Given the description of an element on the screen output the (x, y) to click on. 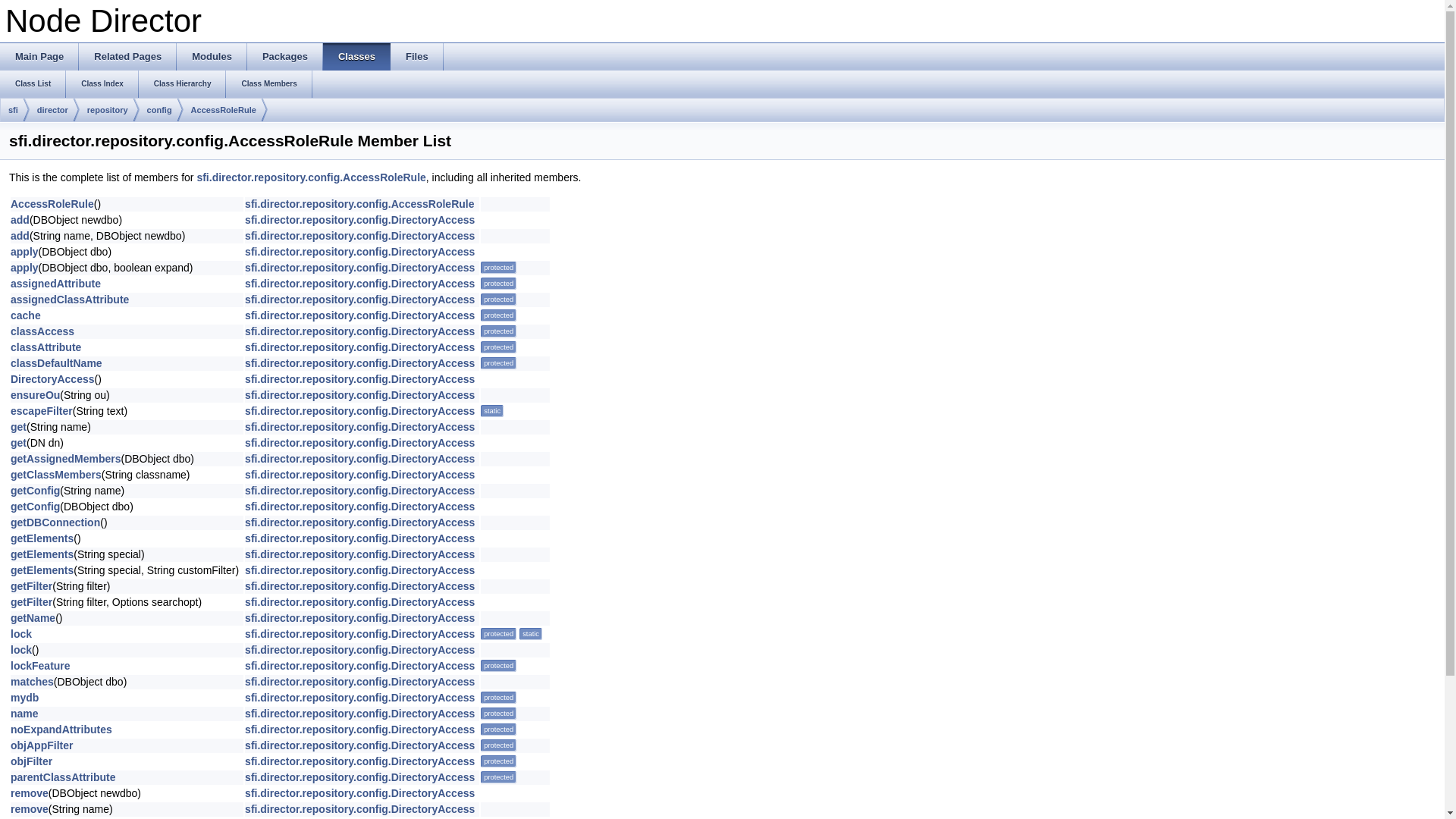
getFilter Element type: text (31, 602)
apply Element type: text (24, 267)
sfi.director.repository.config.DirectoryAccess Element type: text (359, 442)
sfi.director.repository.config.DirectoryAccess Element type: text (359, 331)
remove Element type: text (29, 793)
sfi.director.repository.config.DirectoryAccess Element type: text (359, 586)
get Element type: text (18, 442)
mydb Element type: text (24, 697)
name Element type: text (24, 713)
assignedClassAttribute Element type: text (69, 299)
director Element type: text (52, 110)
sfi.director.repository.config.DirectoryAccess Element type: text (359, 315)
sfi.director.repository.config.DirectoryAccess Element type: text (359, 681)
getElements Element type: text (41, 538)
cache Element type: text (25, 315)
AccessRoleRule Element type: text (52, 203)
remove Element type: text (29, 809)
sfi.director.repository.config.DirectoryAccess Element type: text (359, 474)
sfi.director.repository.config.DirectoryAccess Element type: text (359, 665)
getConfig Element type: text (34, 490)
sfi.director.repository.config.AccessRoleRule Element type: text (358, 203)
repository Element type: text (107, 110)
Classes Element type: text (356, 56)
sfi.director.repository.config.DirectoryAccess Element type: text (359, 363)
sfi.director.repository.config.DirectoryAccess Element type: text (359, 554)
sfi.director.repository.config.DirectoryAccess Element type: text (359, 777)
sfi.director.repository.config.DirectoryAccess Element type: text (359, 729)
sfi.director.repository.config.DirectoryAccess Element type: text (359, 649)
lock Element type: text (20, 649)
DirectoryAccess Element type: text (52, 379)
Class Members Element type: text (268, 83)
lockFeature Element type: text (40, 665)
ensureOu Element type: text (34, 395)
Files Element type: text (416, 56)
Class Hierarchy Element type: text (182, 83)
escapeFilter Element type: text (41, 410)
classAccess Element type: text (42, 331)
getDBConnection Element type: text (55, 522)
sfi.director.repository.config.DirectoryAccess Element type: text (359, 602)
classAttribute Element type: text (45, 347)
Class List Element type: text (32, 83)
apply Element type: text (24, 251)
sfi.director.repository.config.DirectoryAccess Element type: text (359, 522)
getElements Element type: text (41, 554)
add Element type: text (19, 235)
sfi.director.repository.config.DirectoryAccess Element type: text (359, 283)
sfi.director.repository.config.DirectoryAccess Element type: text (359, 745)
lock Element type: text (20, 633)
sfi.director.repository.config.DirectoryAccess Element type: text (359, 633)
sfi.director.repository.config.DirectoryAccess Element type: text (359, 347)
sfi Element type: text (13, 110)
sfi.director.repository.config.DirectoryAccess Element type: text (359, 506)
assignedAttribute Element type: text (55, 283)
sfi.director.repository.config.DirectoryAccess Element type: text (359, 490)
sfi.director.repository.config.DirectoryAccess Element type: text (359, 395)
Modules Element type: text (211, 56)
matches Element type: text (31, 681)
sfi.director.repository.config.DirectoryAccess Element type: text (359, 458)
sfi.director.repository.config.DirectoryAccess Element type: text (359, 267)
getElements Element type: text (41, 570)
sfi.director.repository.config.DirectoryAccess Element type: text (359, 761)
sfi.director.repository.config.DirectoryAccess Element type: text (359, 713)
sfi.director.repository.config.DirectoryAccess Element type: text (359, 426)
sfi.director.repository.config.AccessRoleRule Element type: text (310, 177)
sfi.director.repository.config.DirectoryAccess Element type: text (359, 697)
add Element type: text (19, 219)
getName Element type: text (32, 617)
config Element type: text (159, 110)
AccessRoleRule Element type: text (223, 110)
getConfig Element type: text (34, 506)
noExpandAttributes Element type: text (61, 729)
sfi.director.repository.config.DirectoryAccess Element type: text (359, 299)
getClassMembers Element type: text (55, 474)
sfi.director.repository.config.DirectoryAccess Element type: text (359, 235)
Class Index Element type: text (101, 83)
getAssignedMembers Element type: text (65, 458)
Related Pages Element type: text (127, 56)
classDefaultName Element type: text (56, 363)
sfi.director.repository.config.DirectoryAccess Element type: text (359, 538)
get Element type: text (18, 426)
getFilter Element type: text (31, 586)
objAppFilter Element type: text (41, 745)
parentClassAttribute Element type: text (62, 777)
sfi.director.repository.config.DirectoryAccess Element type: text (359, 570)
sfi.director.repository.config.DirectoryAccess Element type: text (359, 410)
sfi.director.repository.config.DirectoryAccess Element type: text (359, 219)
objFilter Element type: text (31, 761)
sfi.director.repository.config.DirectoryAccess Element type: text (359, 809)
sfi.director.repository.config.DirectoryAccess Element type: text (359, 379)
Packages Element type: text (285, 56)
Main Page Element type: text (39, 56)
sfi.director.repository.config.DirectoryAccess Element type: text (359, 793)
sfi.director.repository.config.DirectoryAccess Element type: text (359, 251)
sfi.director.repository.config.DirectoryAccess Element type: text (359, 617)
